Given the description of an element on the screen output the (x, y) to click on. 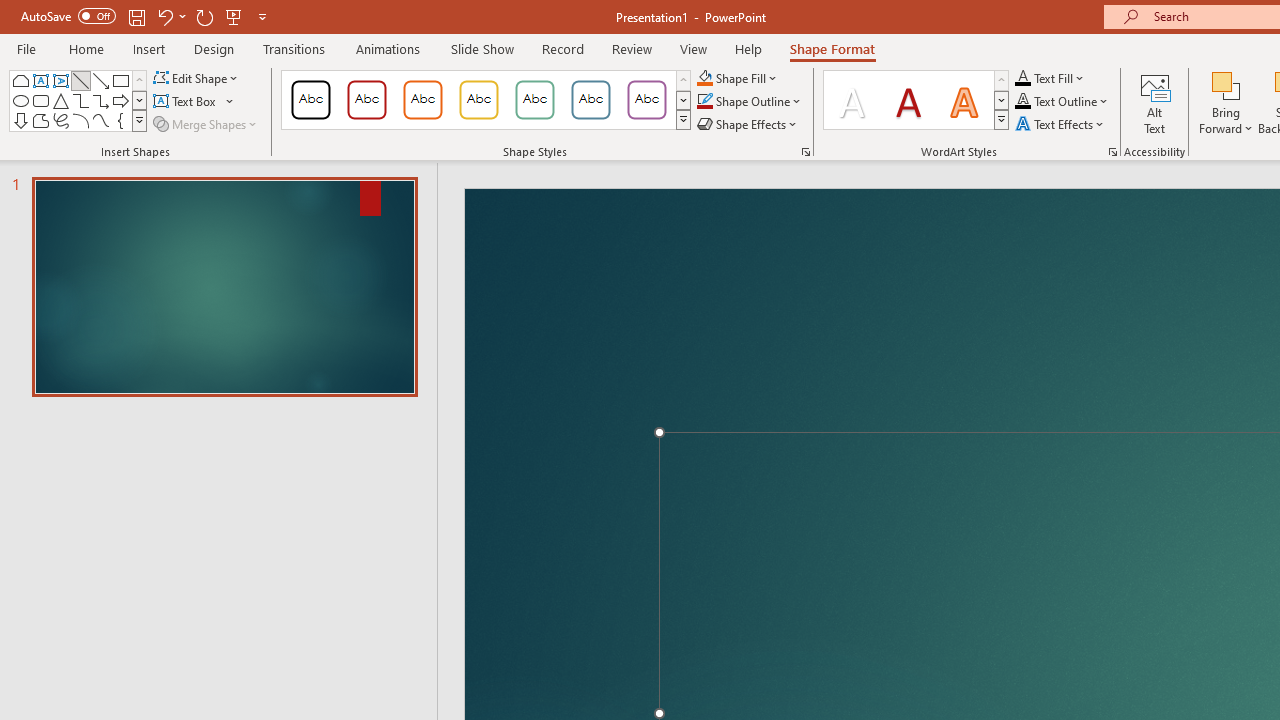
Colored Outline - Purple, Accent 6 (646, 100)
Rectangle: Rounded Corners (40, 100)
Text Outline RGB(0, 0, 0) (1023, 101)
AutomationID: TextStylesGallery (916, 99)
Shape Effects (748, 124)
Text Box (40, 80)
Bring Forward (1225, 84)
Shape Format (832, 48)
Colored Outline - Orange, Accent 2 (422, 100)
